Given the description of an element on the screen output the (x, y) to click on. 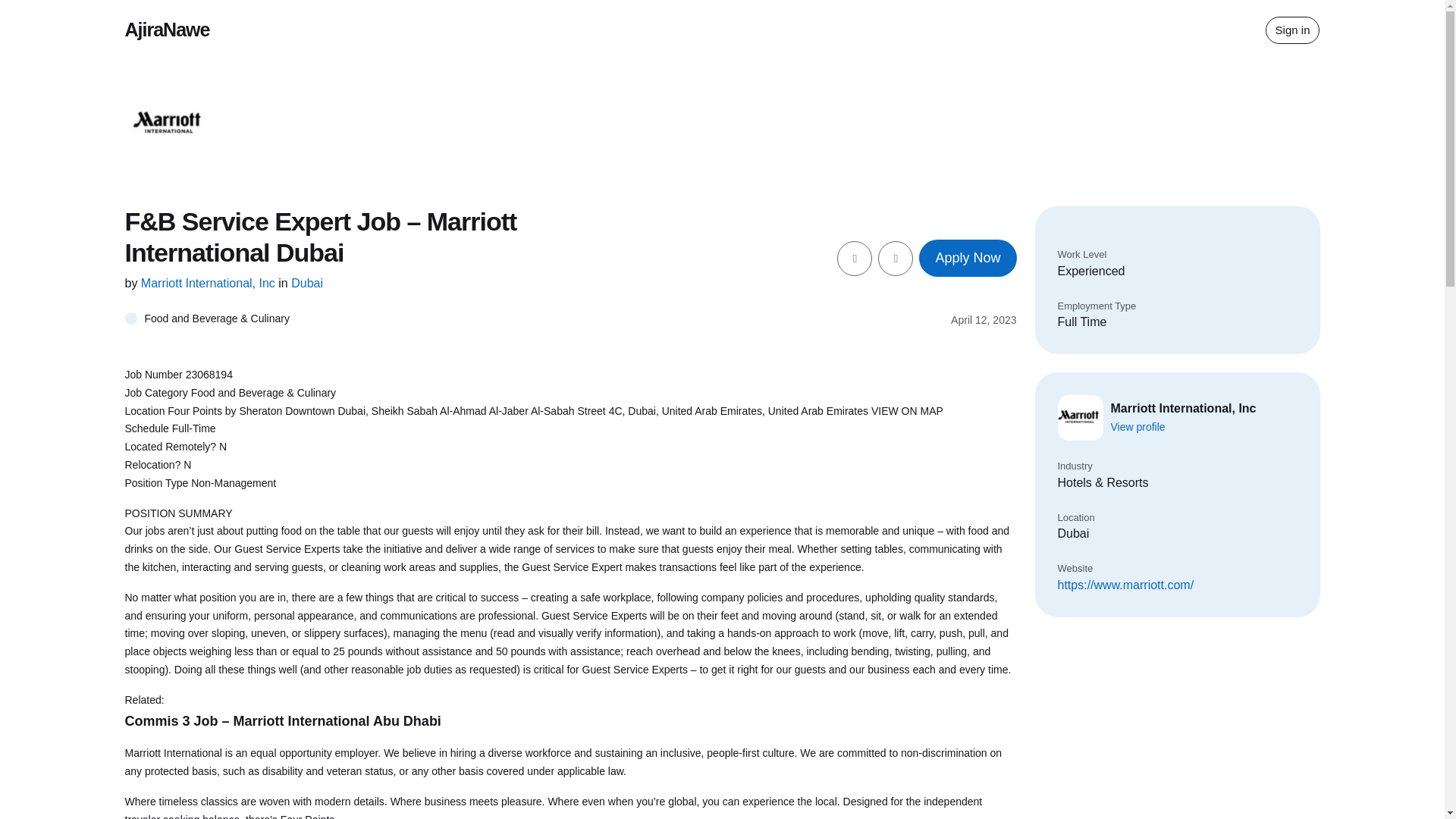
AjiraNawe (166, 29)
Marriott International, Inc (209, 282)
Dubai (307, 282)
Sign in (1292, 30)
